Given the description of an element on the screen output the (x, y) to click on. 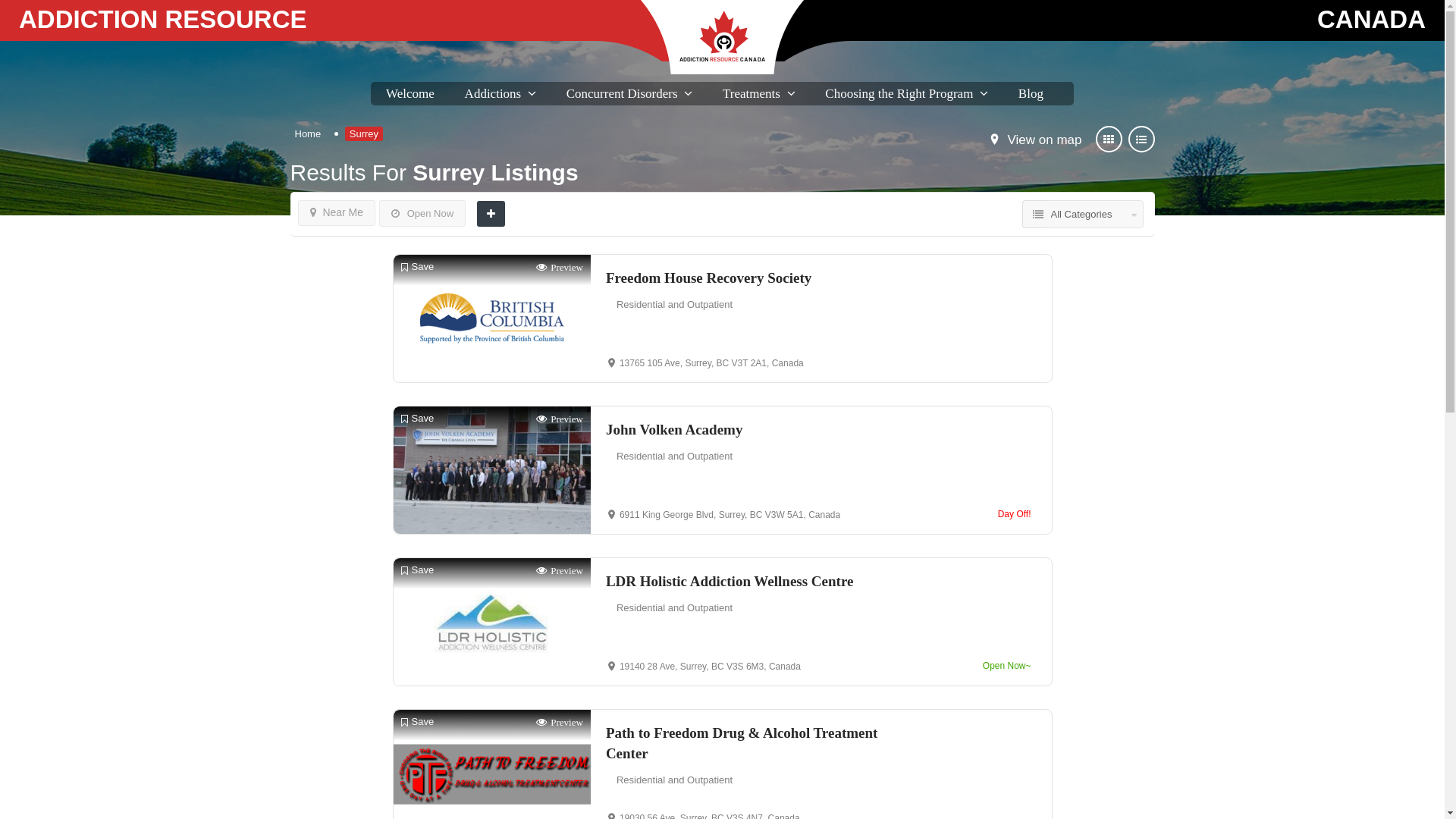
Blog Element type: text (1030, 93)
LDR Holistic Addiction Wellness Centre Element type: text (753, 581)
Freedom House Recovery Society Element type: text (753, 277)
Day Off! Element type: text (1014, 513)
Residential and Outpatient Element type: text (674, 304)
Addictions Element type: text (492, 93)
Open Now Element type: text (422, 213)
Save Element type: text (416, 266)
Residential and Outpatient Element type: text (674, 779)
All Categories Element type: text (1093, 214)
Treatments Element type: text (751, 93)
Sign in Element type: text (721, 453)
Preview Element type: text (559, 418)
Near Me Element type: text (336, 212)
Preview Element type: text (559, 721)
Save Element type: text (416, 570)
Path to Freedom Drug & Alcohol Treatment Center Element type: text (753, 742)
Home Element type: text (307, 133)
Preview Element type: text (559, 570)
Open Now~ Element type: text (1006, 665)
Concurrent Disorders Element type: text (621, 93)
Residential and Outpatient Element type: text (674, 607)
Preview Element type: text (559, 266)
Residential and Outpatient Element type: text (674, 455)
Save Element type: text (416, 418)
Save Element type: text (416, 721)
Choosing the Right Program Element type: text (898, 93)
John Volken Academy Element type: text (753, 429)
Welcome Element type: text (409, 93)
View on map Element type: text (1044, 139)
